Given the description of an element on the screen output the (x, y) to click on. 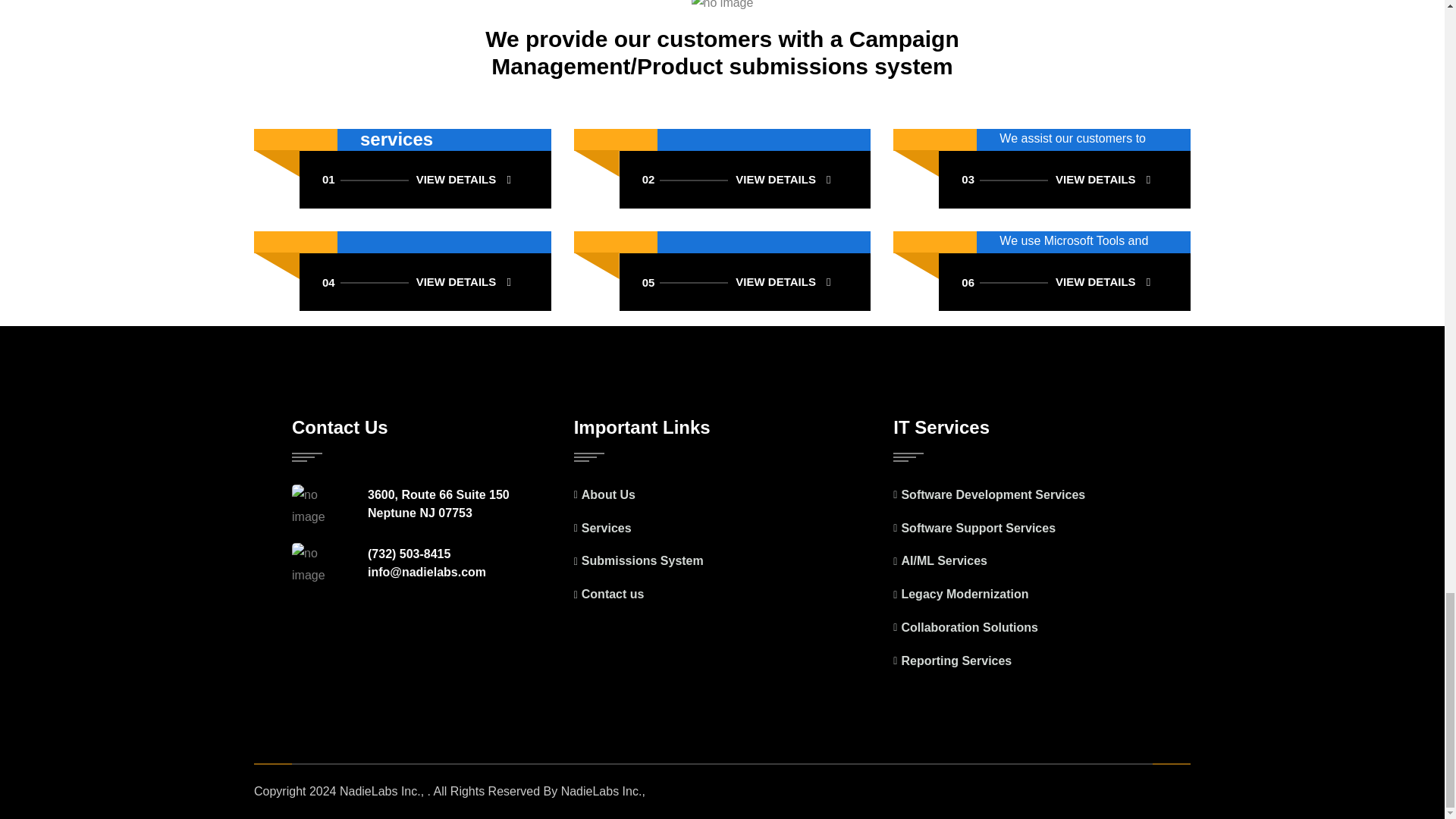
Contact us (425, 282)
Legacy Modernization (721, 594)
About Us (1065, 179)
Reporting Services (425, 179)
Submissions System (745, 282)
Software Support Services (1042, 594)
Services (721, 495)
Software Development Services (1042, 661)
Collaboration Solutions (721, 561)
